Given the description of an element on the screen output the (x, y) to click on. 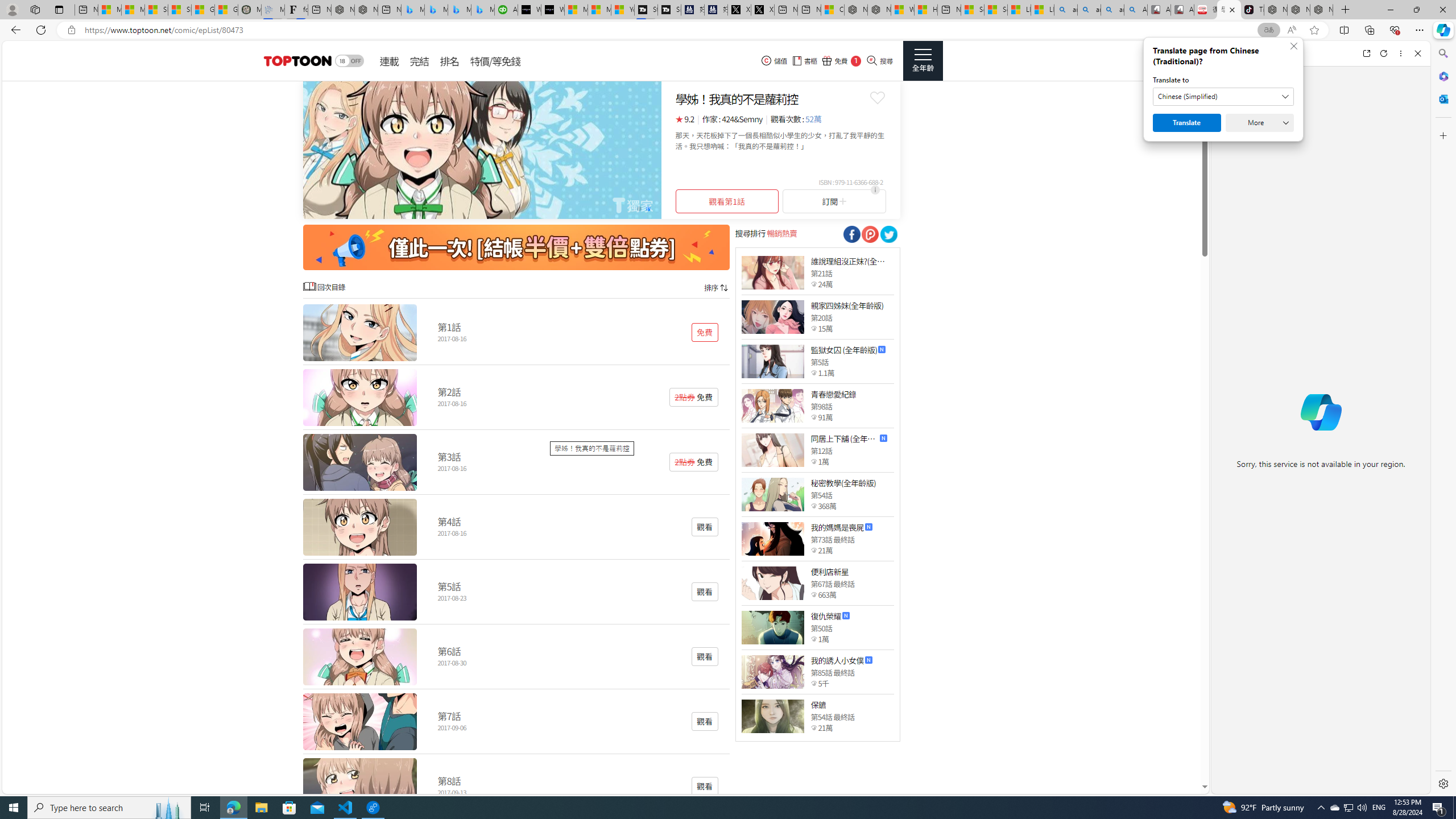
Class: socialShare (887, 234)
Outlook (1442, 98)
Translate (1187, 122)
Class: epicon_starpoint (813, 727)
